Given the description of an element on the screen output the (x, y) to click on. 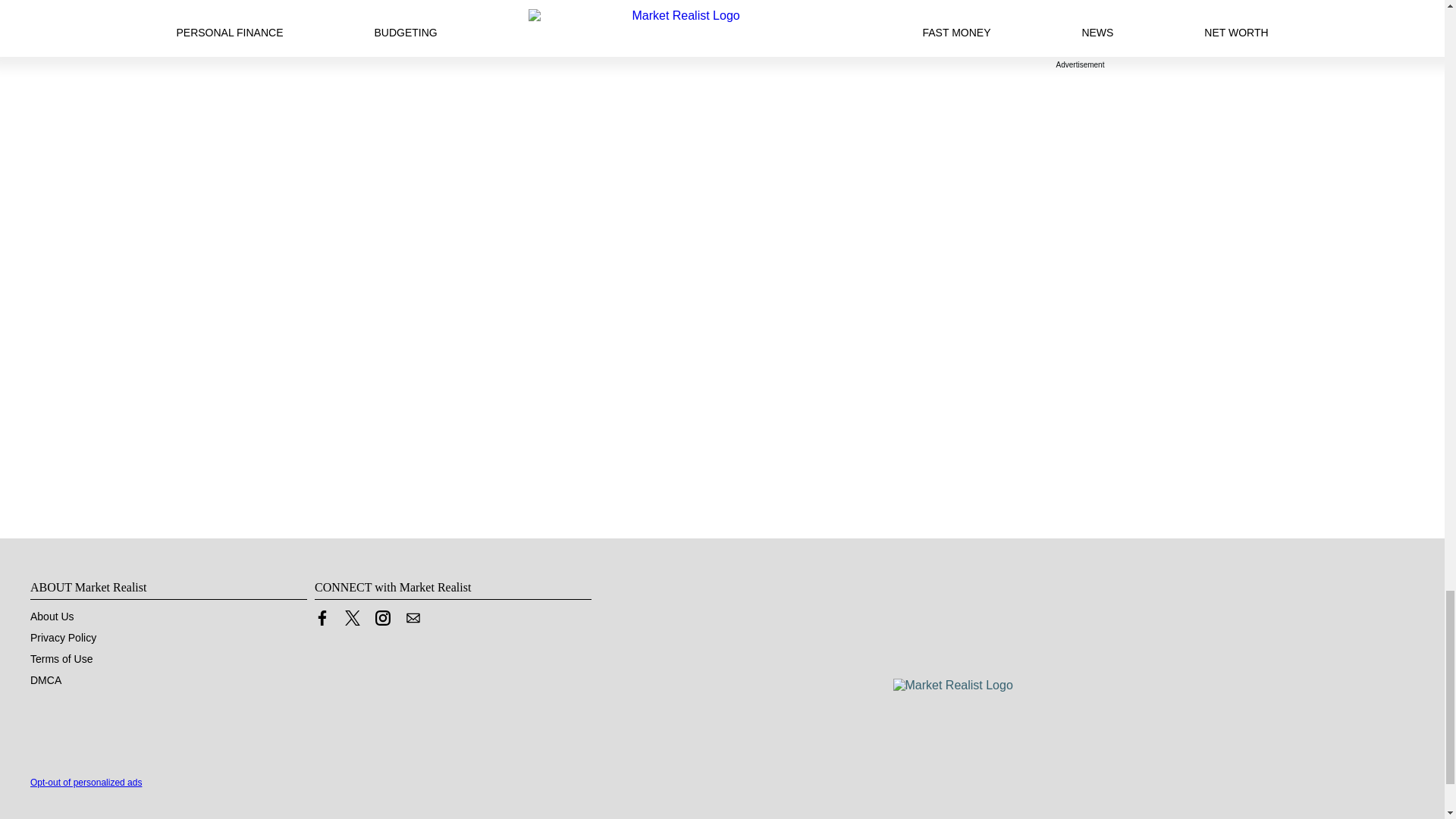
Link to Facebook (322, 617)
Terms of Use (61, 658)
About Us (52, 616)
Contact us by Email (413, 621)
Contact us by Email (413, 617)
Link to X (352, 621)
Opt-out of personalized ads (85, 782)
Terms of Use (61, 658)
DMCA (45, 680)
Link to Instagram (382, 621)
Link to Instagram (382, 617)
Link to Facebook (322, 621)
DMCA (45, 680)
About Us (52, 616)
Link to X (352, 617)
